Given the description of an element on the screen output the (x, y) to click on. 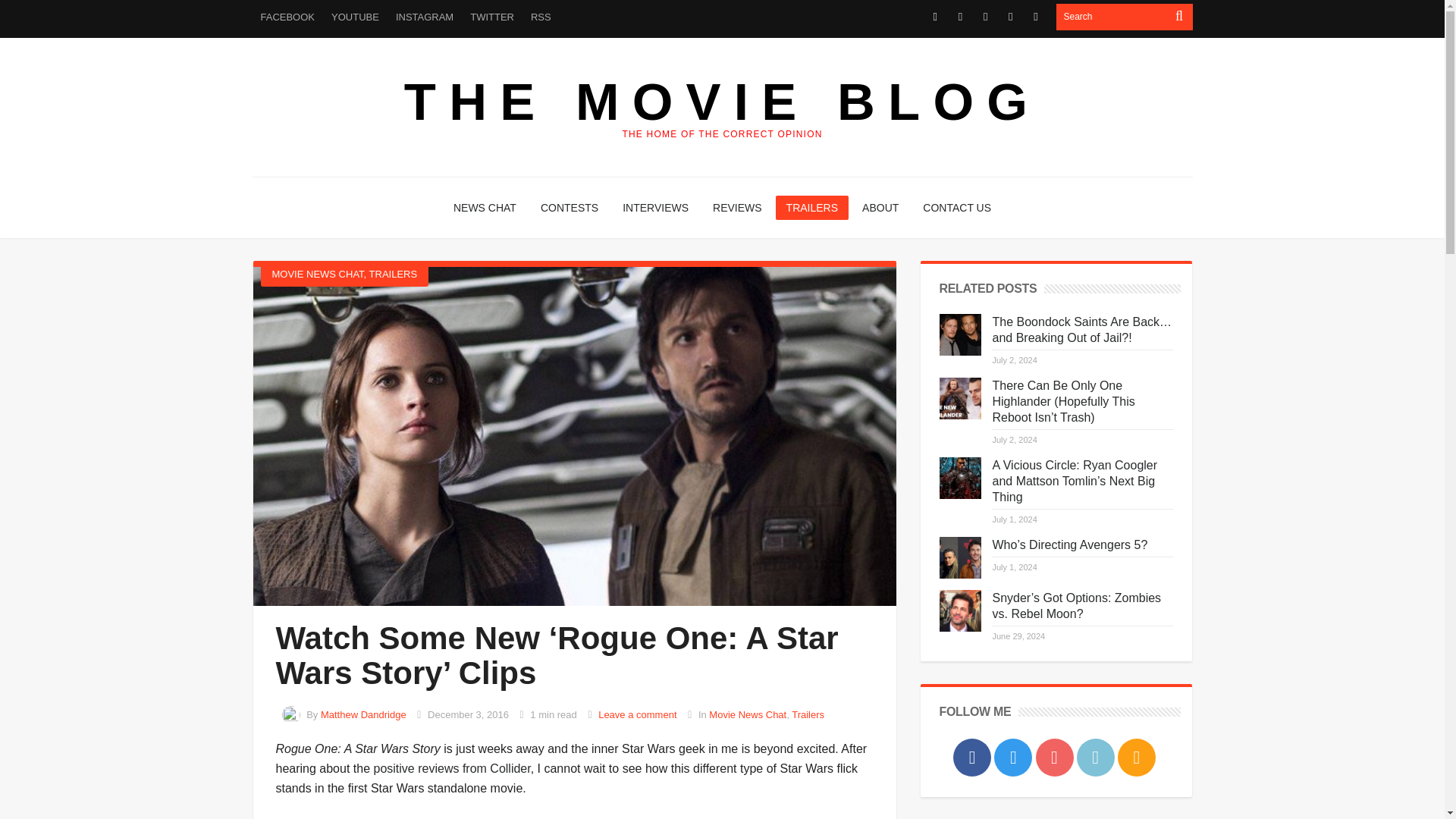
FACEBOOK (287, 17)
Search (1111, 17)
Search (1111, 17)
RSS (540, 17)
TWITTER (491, 17)
NEWS CHAT (484, 207)
INSTAGRAM (424, 17)
THE MOVIE BLOG (722, 101)
CONTESTS (568, 207)
YOUTUBE (355, 17)
